Given the description of an element on the screen output the (x, y) to click on. 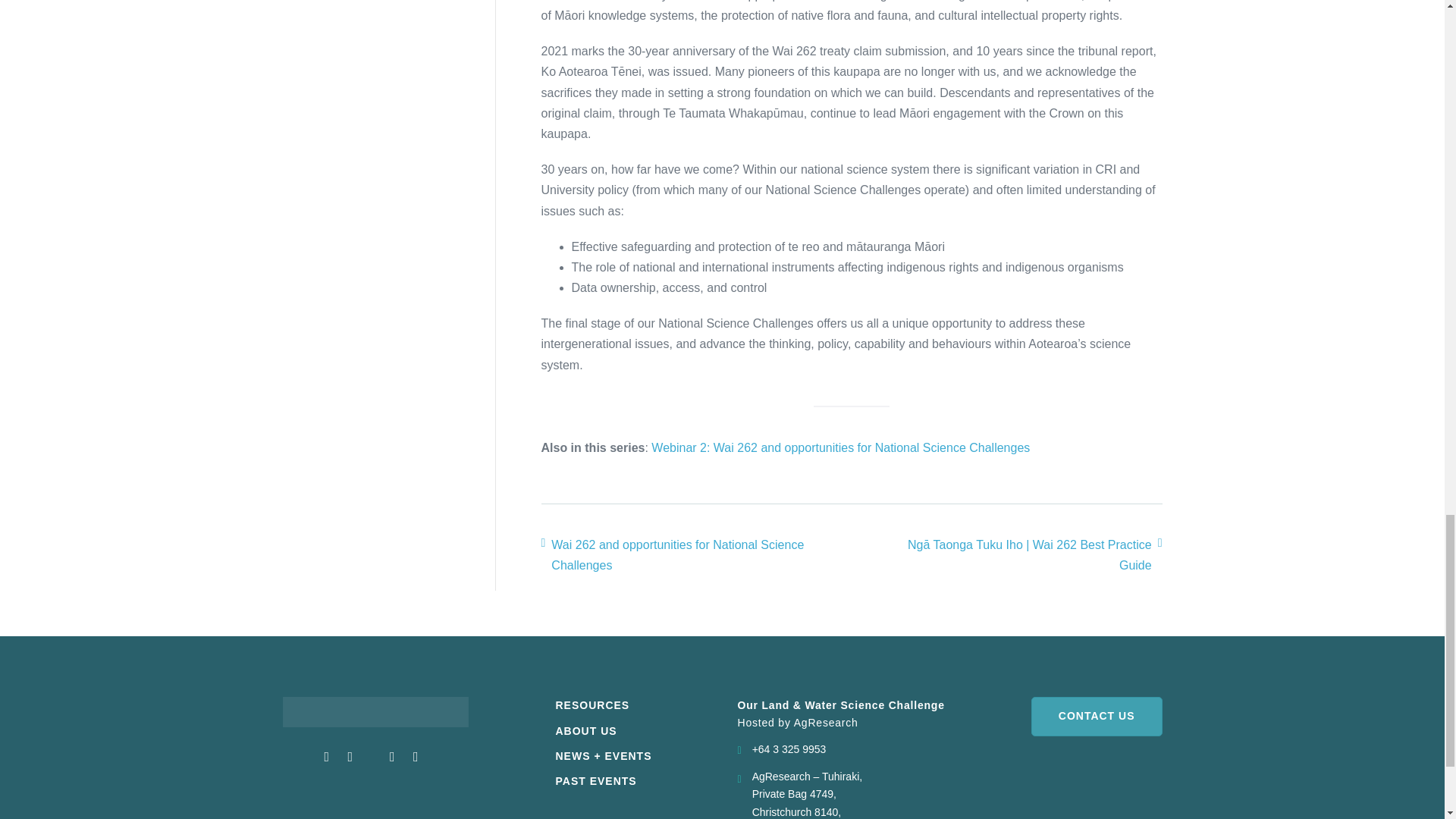
Our Land And Water Ribbon Horizontal White Logo (374, 711)
